Given the description of an element on the screen output the (x, y) to click on. 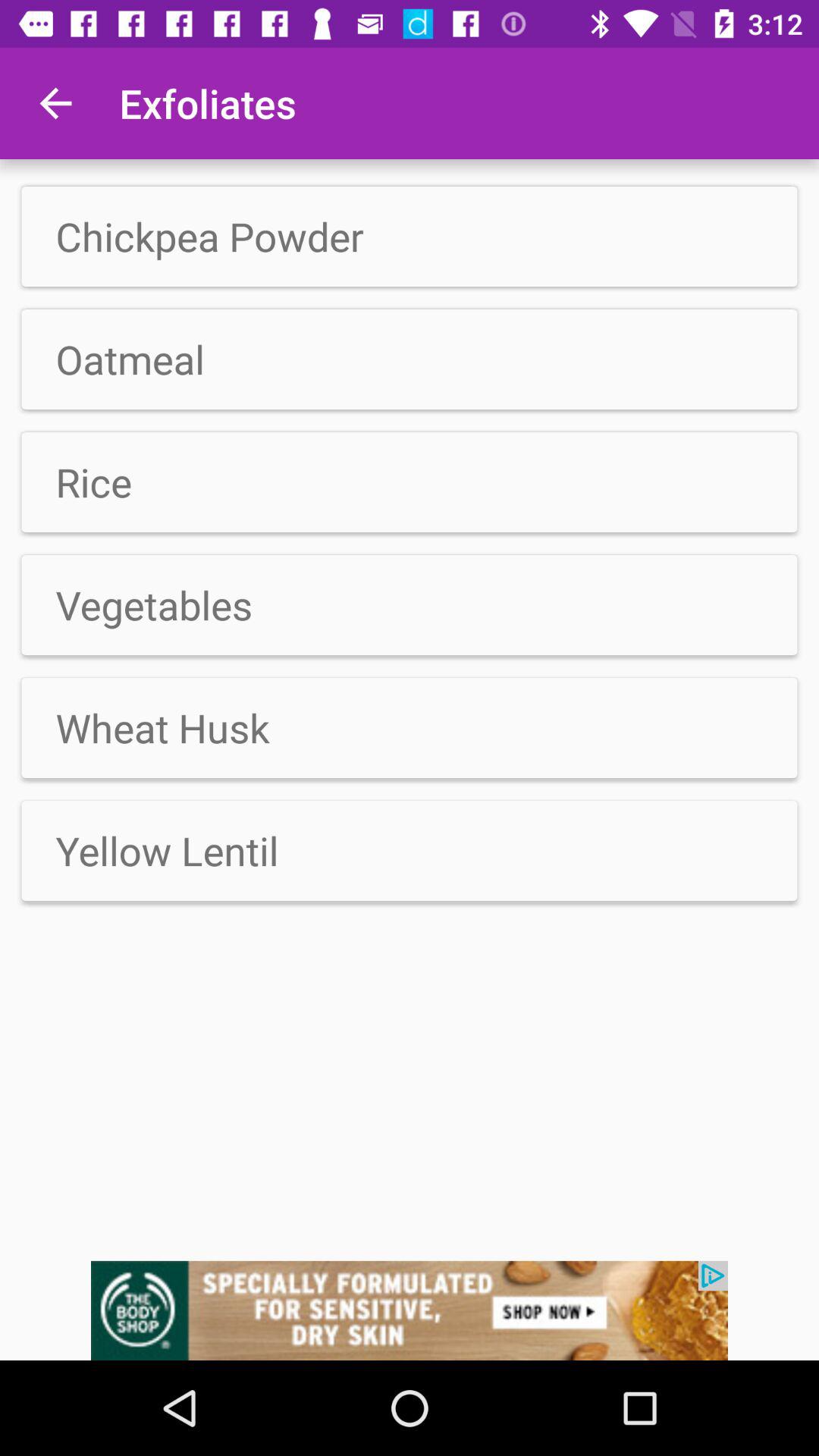
advertisement page (409, 1310)
